Given the description of an element on the screen output the (x, y) to click on. 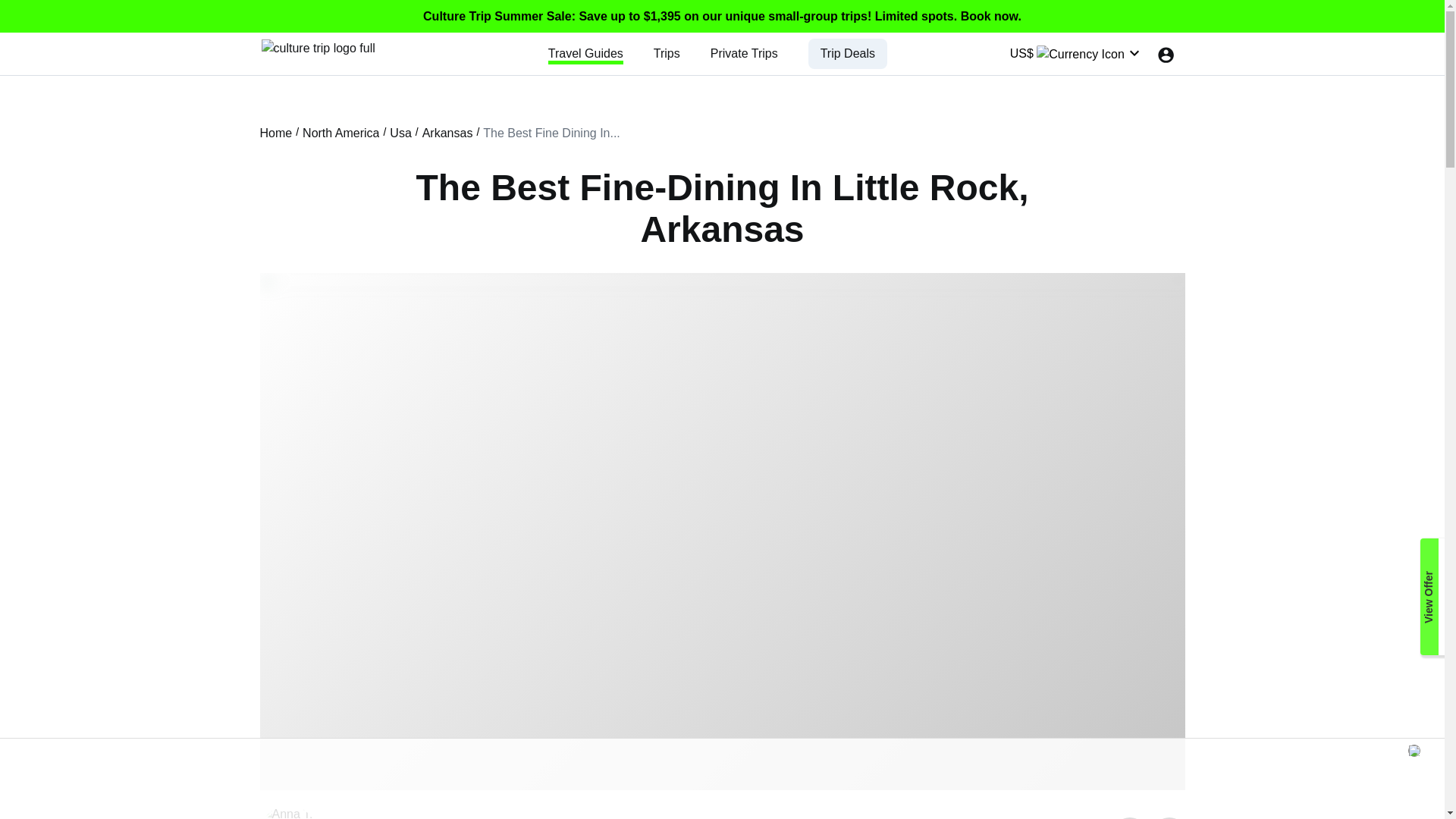
North America (340, 133)
Private Trips (743, 53)
The Best Fine Dining In... (551, 133)
The Culture Trip (317, 47)
Travel Guides (585, 53)
Travel Guides (585, 53)
Usa (400, 133)
Trips (666, 53)
Trip Deals (848, 53)
Home (275, 133)
Arkansas (447, 133)
Trip Deals (848, 53)
Trips (666, 53)
Private Trips (743, 53)
